Given the description of an element on the screen output the (x, y) to click on. 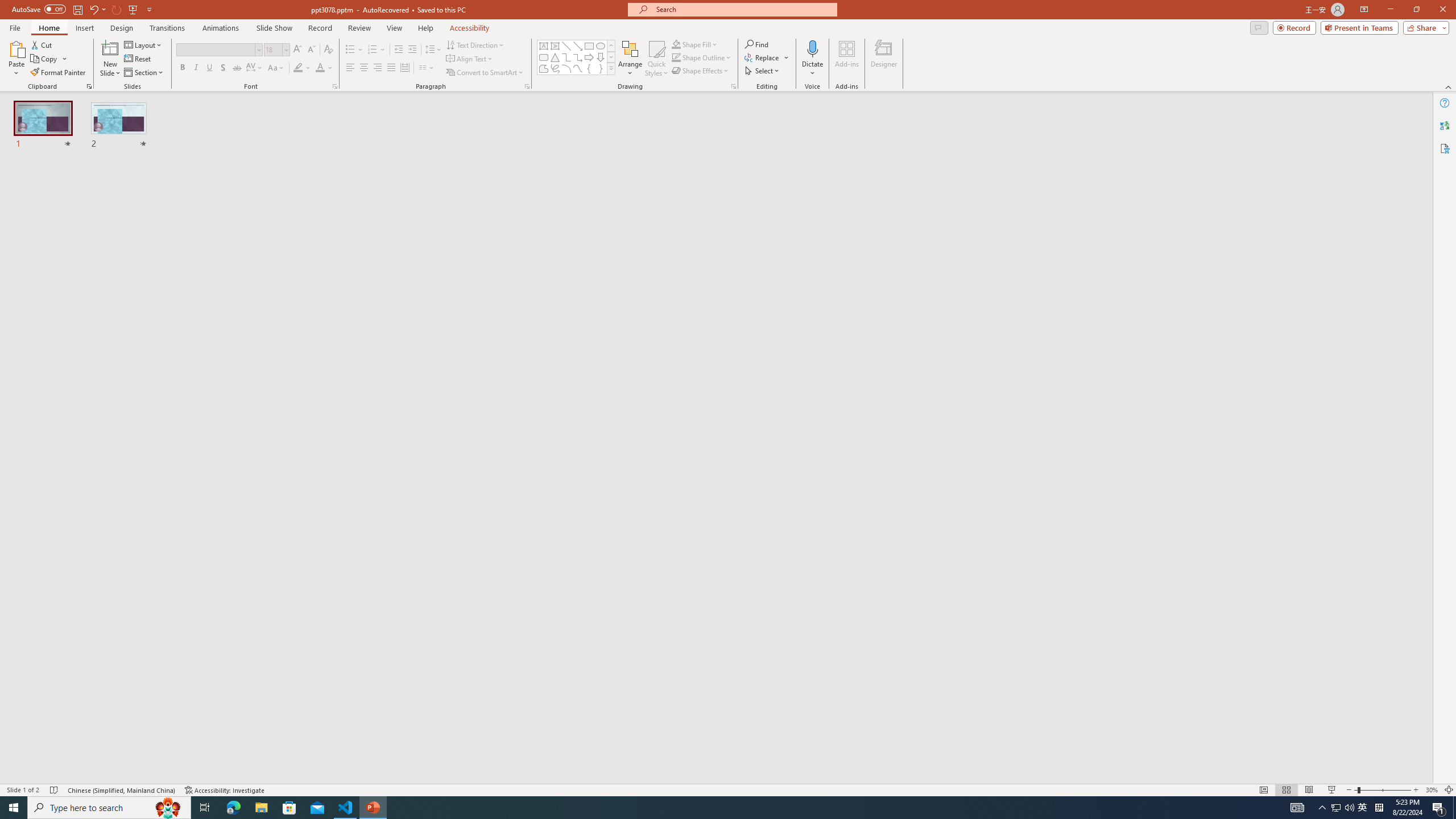
Increase Indent (412, 49)
Line Arrow (577, 45)
Bold (182, 67)
Center (363, 67)
Align Left (349, 67)
Shape Effects (700, 69)
